Given the description of an element on the screen output the (x, y) to click on. 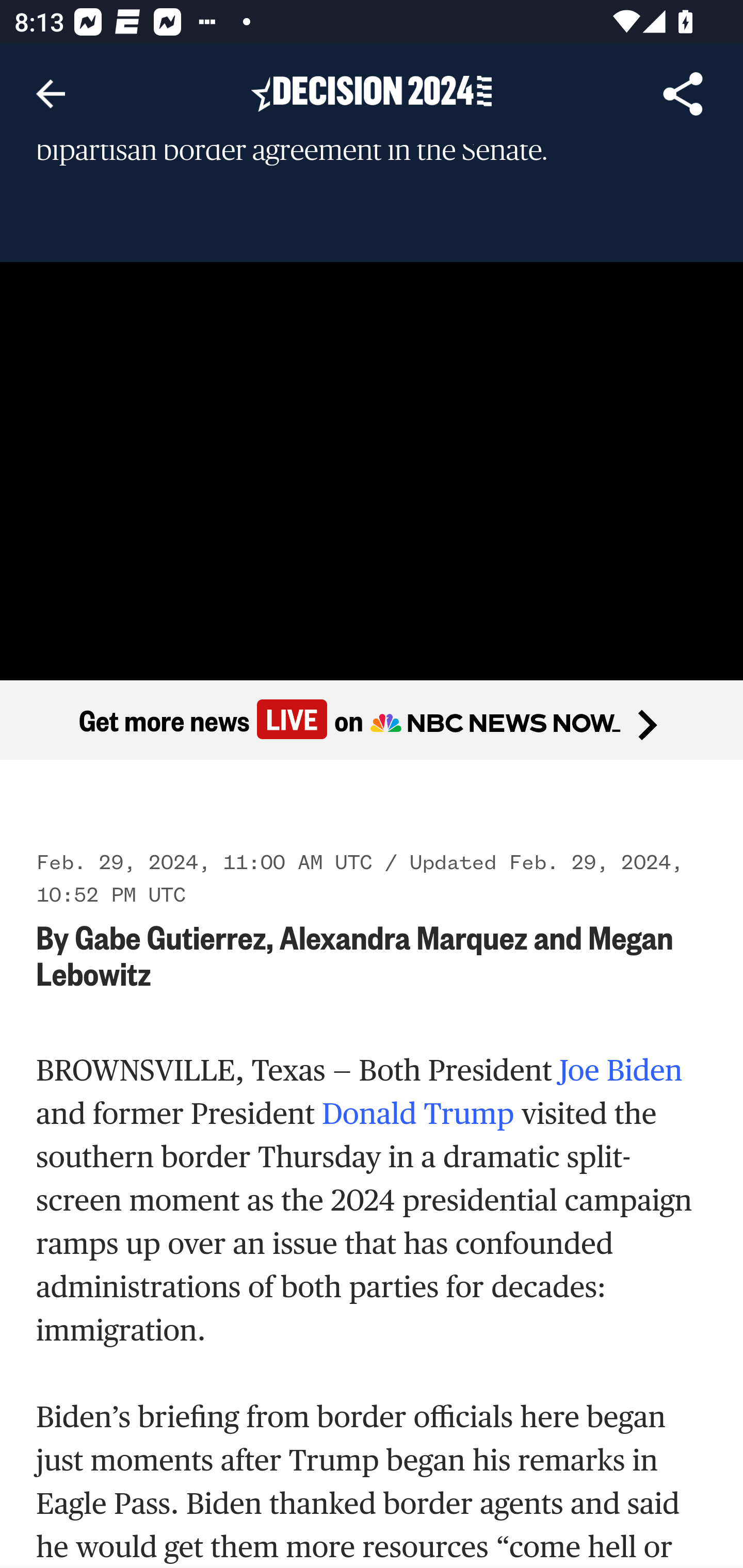
Navigate up (50, 93)
Share Article, button (683, 94)
Header, Decision 2024 (371, 93)
Get more news Live on Get more news Live on (371, 721)
Megan Lebowitz (355, 956)
Joe Biden (620, 1071)
Donald Trump (417, 1115)
